Given the description of an element on the screen output the (x, y) to click on. 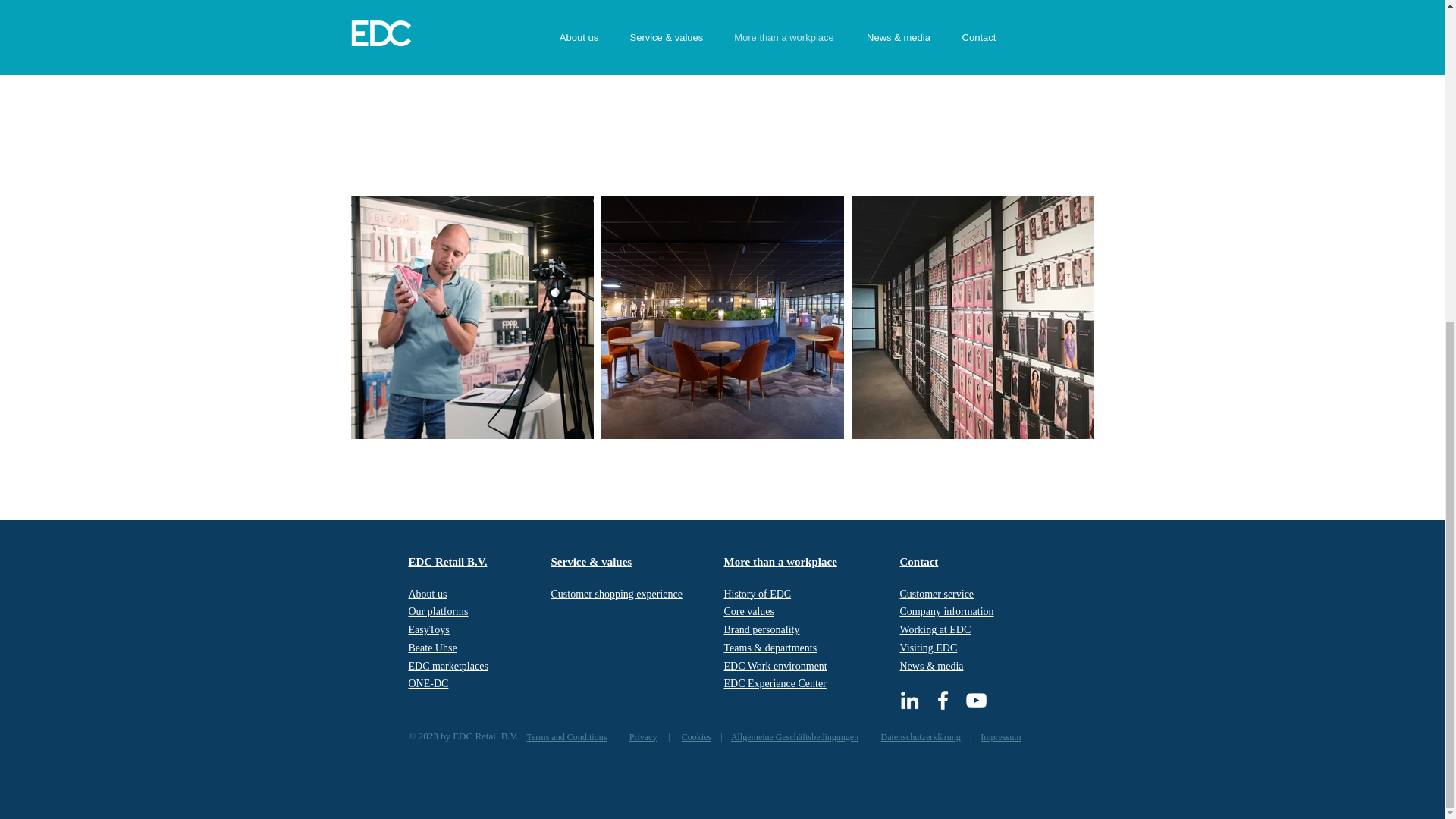
EDC marketplaces (447, 665)
Our platforms (437, 611)
Brand personality (761, 629)
About us (426, 593)
Core values (748, 611)
EDC Retail B.V. (446, 562)
Contact (918, 562)
EasyToys (427, 629)
ONE-DC (427, 683)
Customer shopping experience (615, 593)
